Given the description of an element on the screen output the (x, y) to click on. 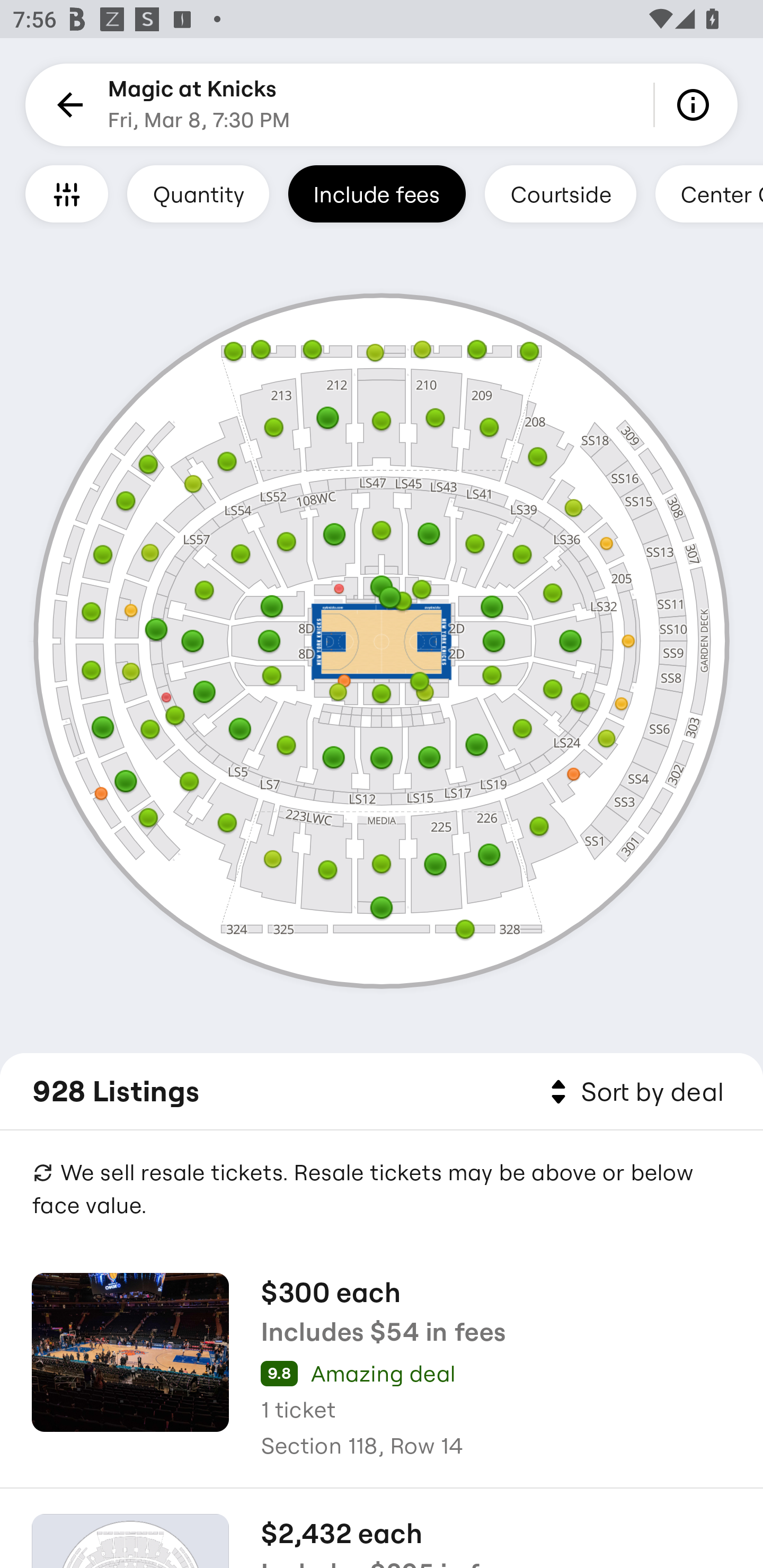
Back (66, 104)
Magic at Knicks Fri, Mar 8, 7:30 PM (198, 104)
Info (695, 104)
Filters and Accessible Seating (66, 193)
Quantity (198, 193)
Include fees (376, 193)
Courtside (560, 193)
Sort by deal (633, 1091)
